Given the description of an element on the screen output the (x, y) to click on. 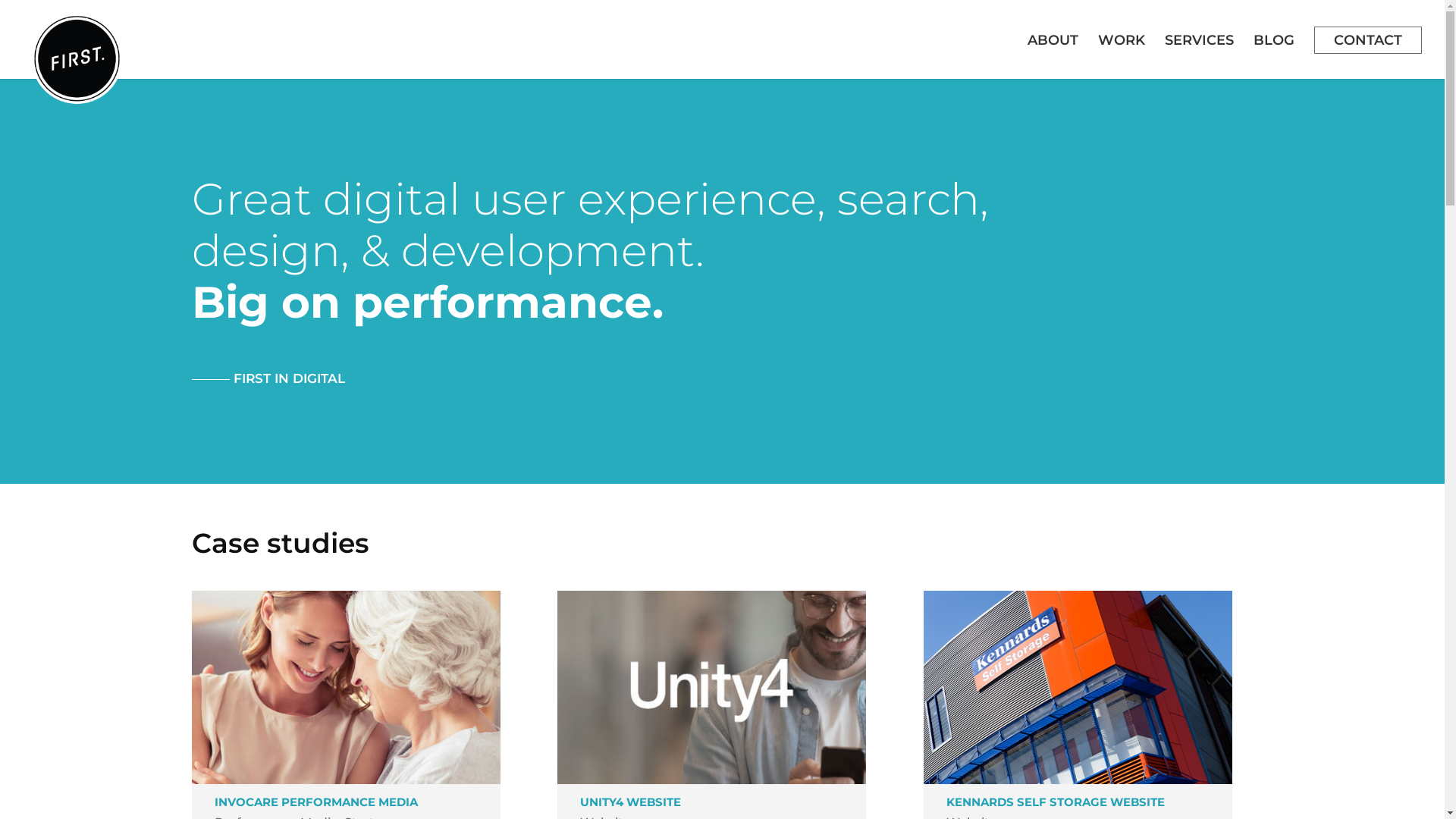
SERVICES Element type: text (1198, 39)
ABOUT Element type: text (1052, 39)
WORK Element type: text (1121, 39)
INVOCARE PERFORMANCE MEDIA Element type: text (315, 801)
Unity4 Website Element type: hover (711, 686)
KENNARDS SELF STORAGE WEBSITE Element type: text (1055, 801)
CONTACT Element type: text (1367, 39)
UNITY4 WEBSITE Element type: text (630, 801)
BLOG Element type: text (1273, 39)
Kennards Self Storage Website Element type: hover (1077, 686)
Invocare Performance Media Element type: hover (345, 686)
